Given the description of an element on the screen output the (x, y) to click on. 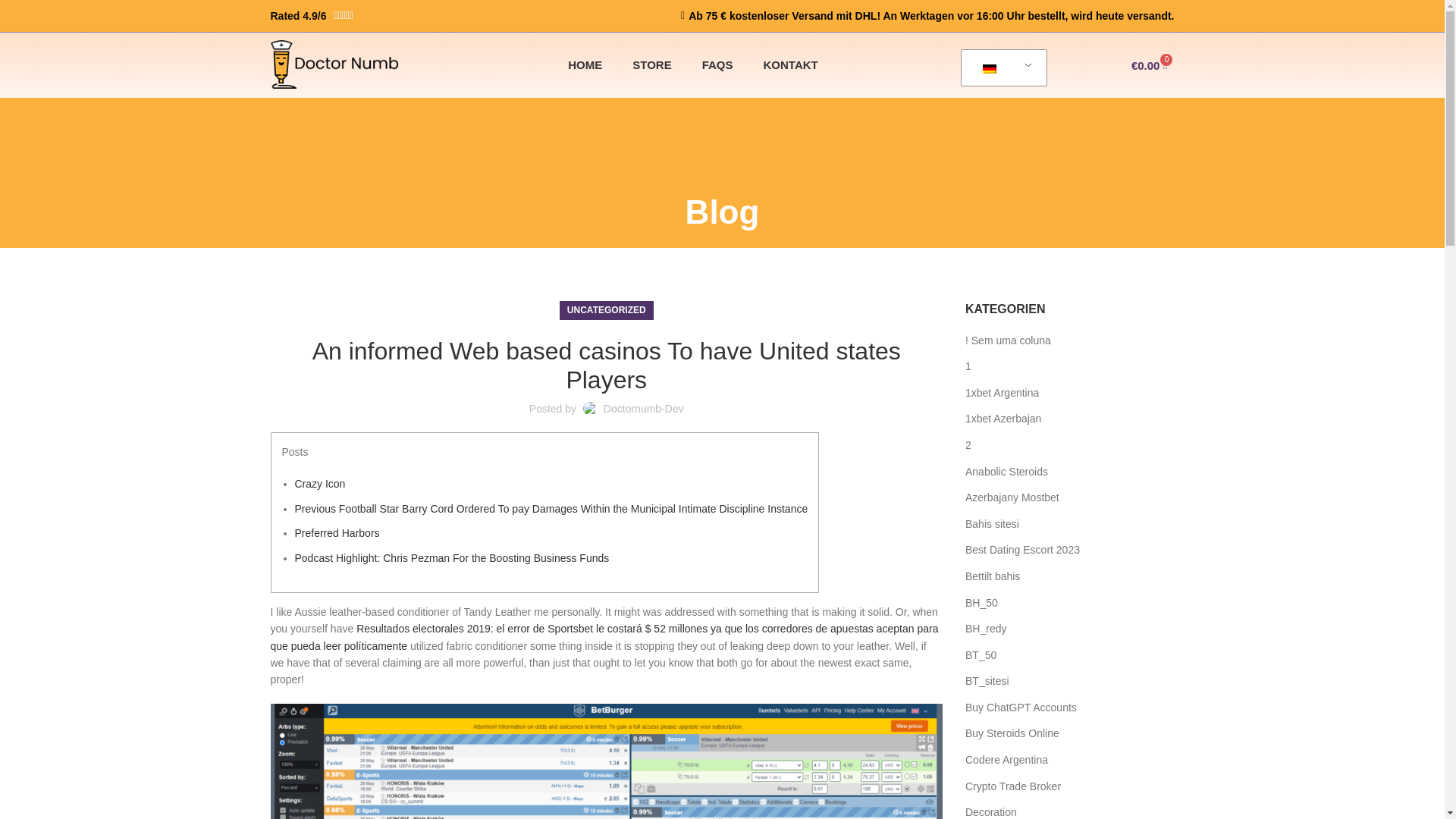
Doctornumb-Dev (644, 408)
1xbet Azerbajan (1003, 418)
STORE (651, 64)
Preferred Harbors (336, 532)
German (988, 68)
! Sem uma coluna (1008, 340)
HOME (585, 64)
FAQS (717, 64)
German (1000, 68)
1xbet Argentina (1003, 393)
